Given the description of an element on the screen output the (x, y) to click on. 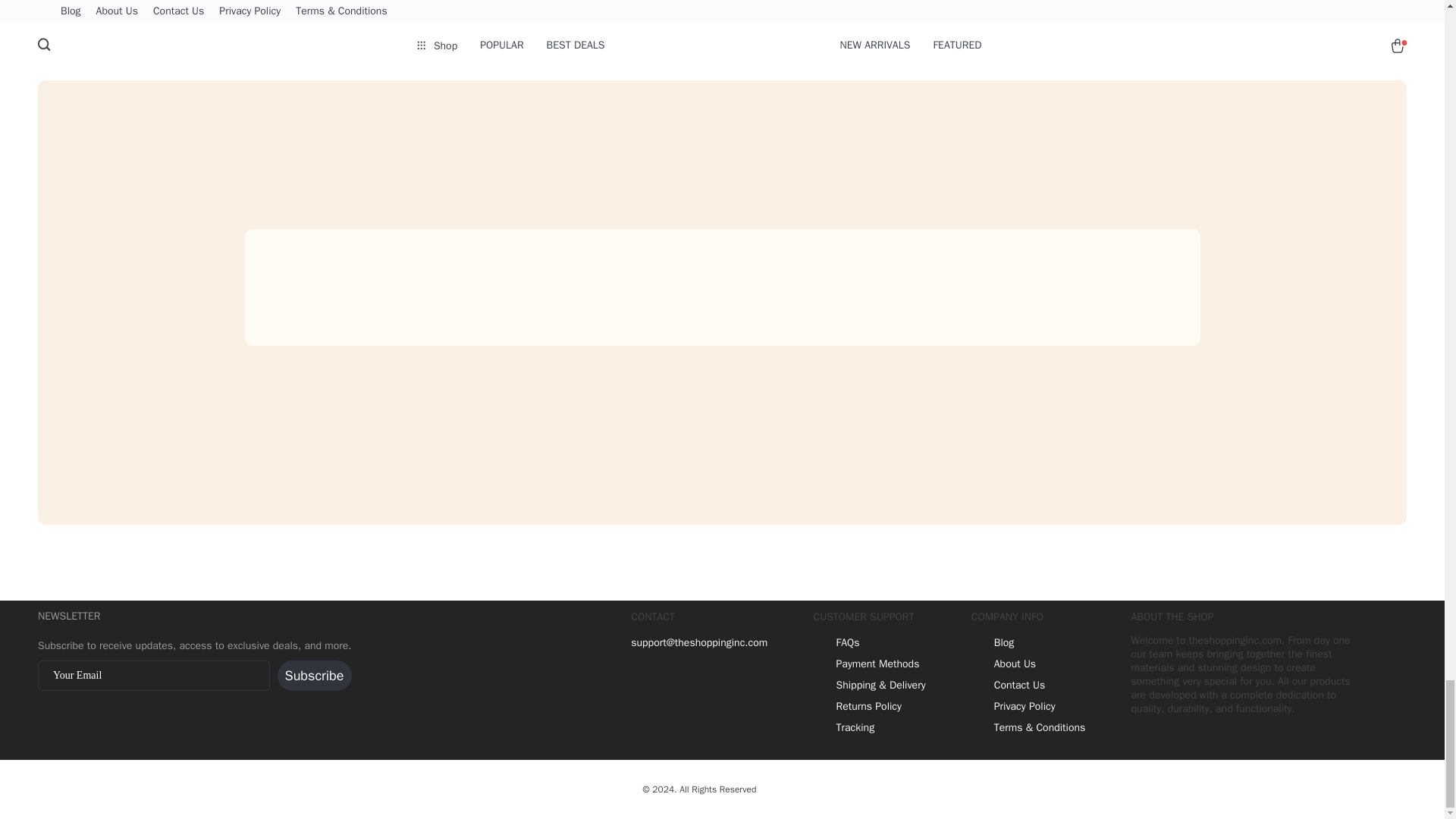
Subscribe (315, 675)
